Given the description of an element on the screen output the (x, y) to click on. 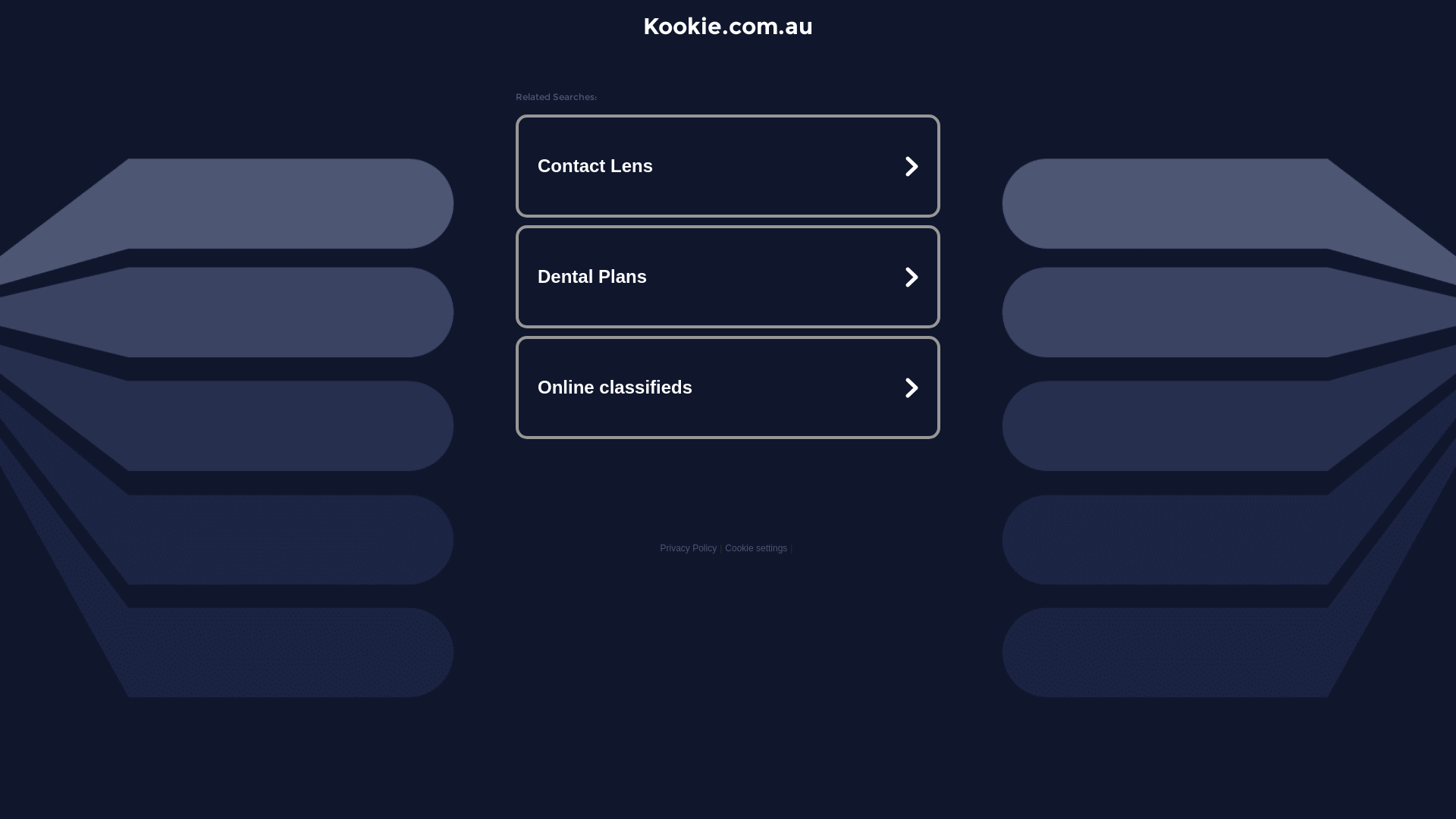
Dental Plans Element type: text (727, 276)
Contact Lens Element type: text (727, 165)
Online classifieds Element type: text (727, 387)
Cookie settings Element type: text (755, 547)
Kookie.com.au Element type: text (727, 26)
Privacy Policy Element type: text (687, 547)
